Given the description of an element on the screen output the (x, y) to click on. 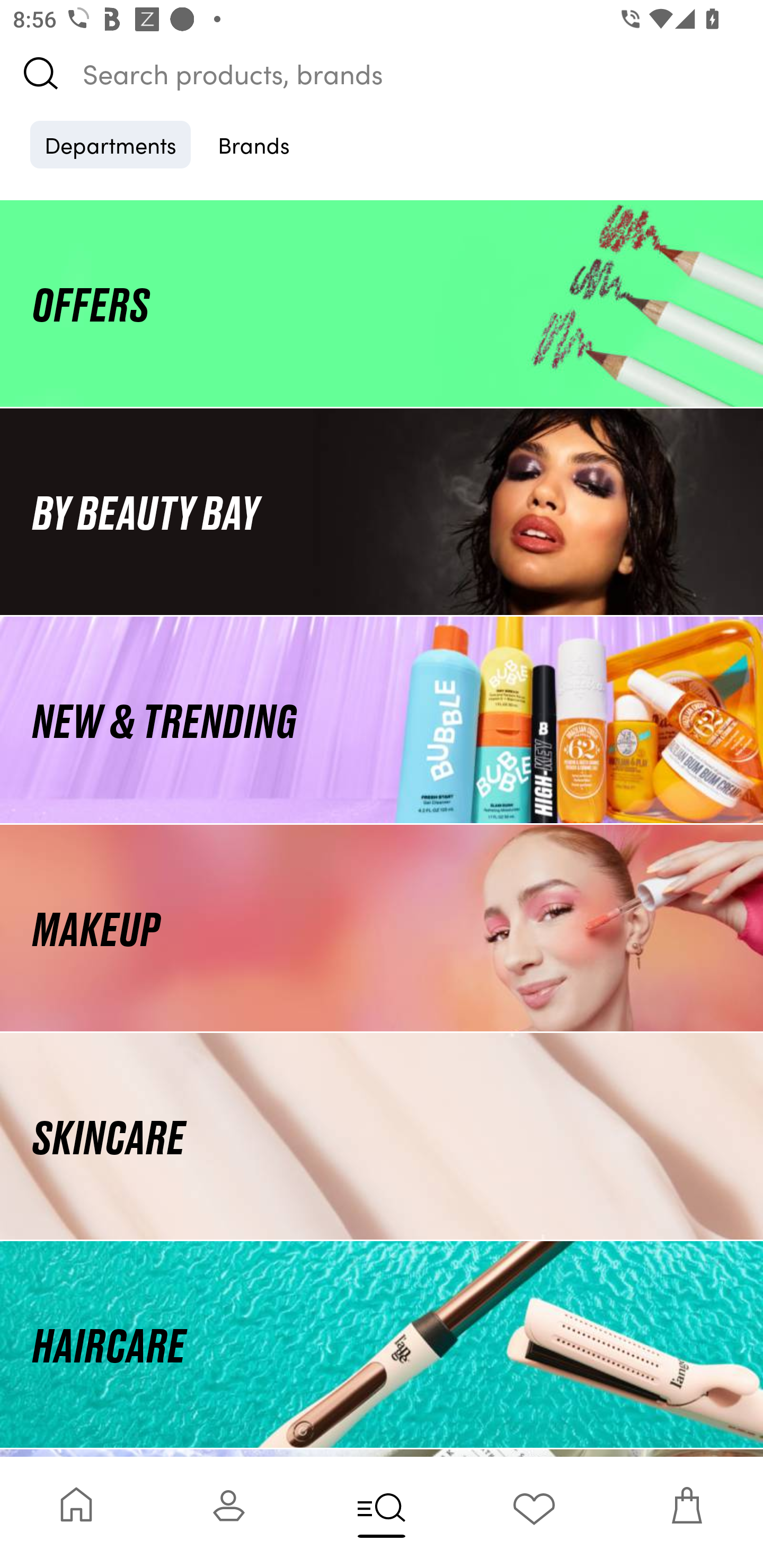
Search products, brands (381, 72)
Departments (110, 143)
Brands (253, 143)
OFFERS (381, 303)
BY BEAUTY BAY (381, 510)
NEW & TRENDING (381, 719)
MAKEUP (381, 927)
SKINCARE (381, 1136)
HAIRCARE (381, 1344)
